Given the description of an element on the screen output the (x, y) to click on. 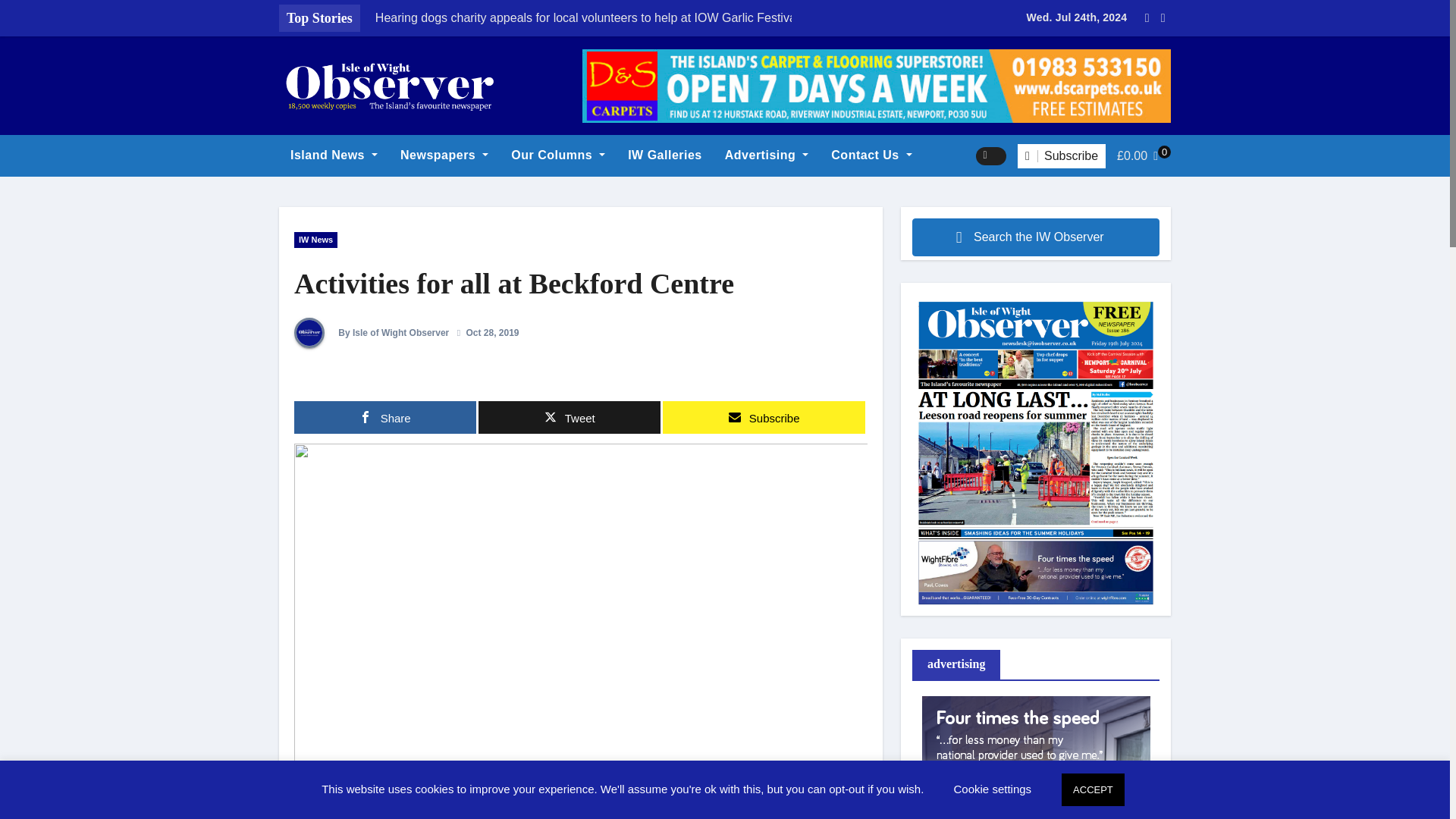
Island News (333, 155)
Our Columns (557, 155)
Newspapers (443, 155)
